Given the description of an element on the screen output the (x, y) to click on. 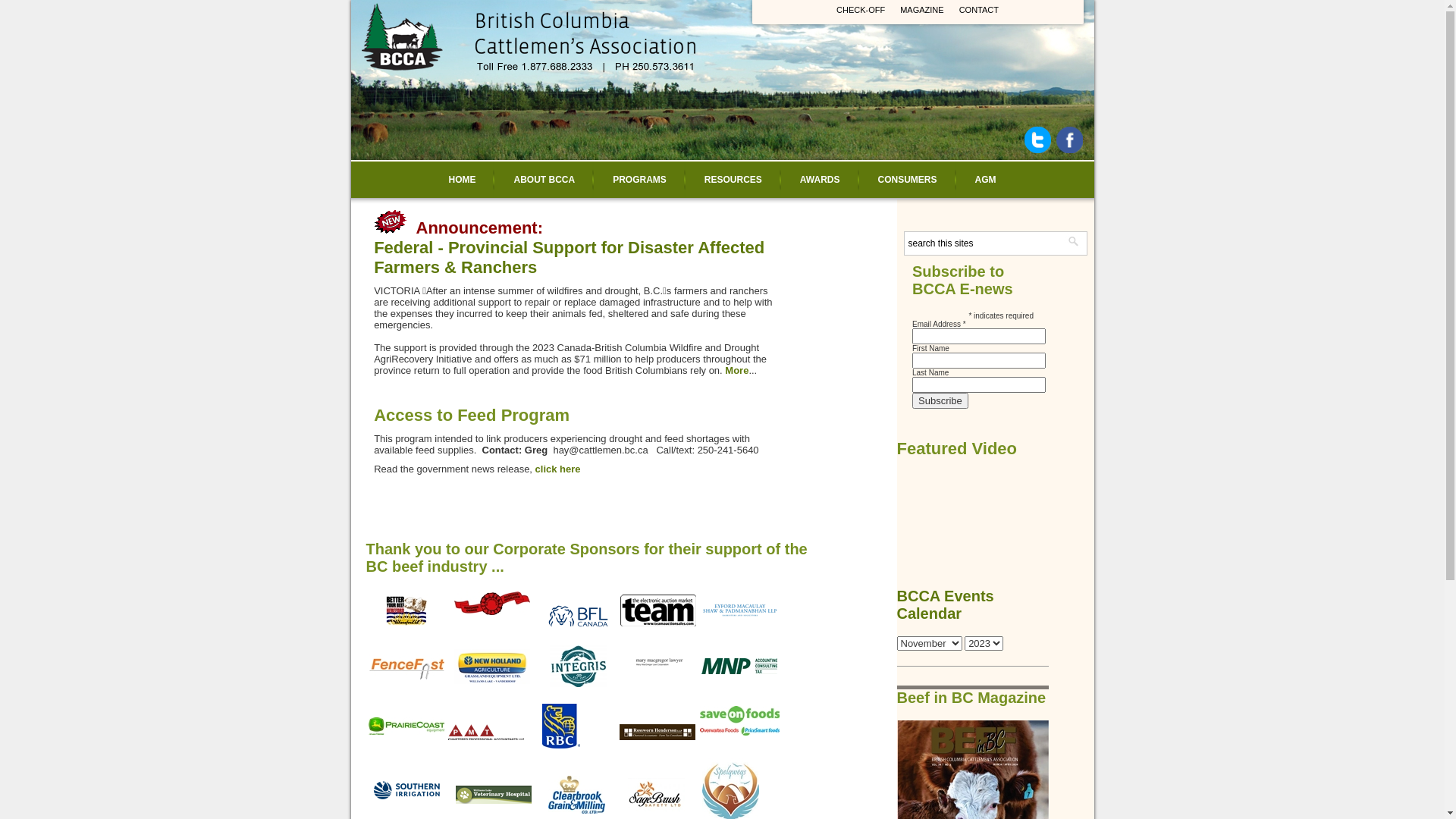
PROGRAMS Element type: text (639, 179)
HOME Element type: text (461, 179)
CHECK-OFF Element type: text (860, 9)
More Element type: text (736, 370)
CONTACT Element type: text (978, 9)
MAGAZINE Element type: text (921, 9)
CONSUMERS Element type: text (906, 179)
AGM Element type: text (985, 179)
RESOURCES Element type: text (733, 179)
Enter keywords then click search button Element type: hover (983, 243)
ABOUT BCCA Element type: text (543, 179)
click here Element type: text (557, 468)
AWARDS Element type: text (820, 179)
BCCA Events Calendar Element type: text (944, 604)
